Given the description of an element on the screen output the (x, y) to click on. 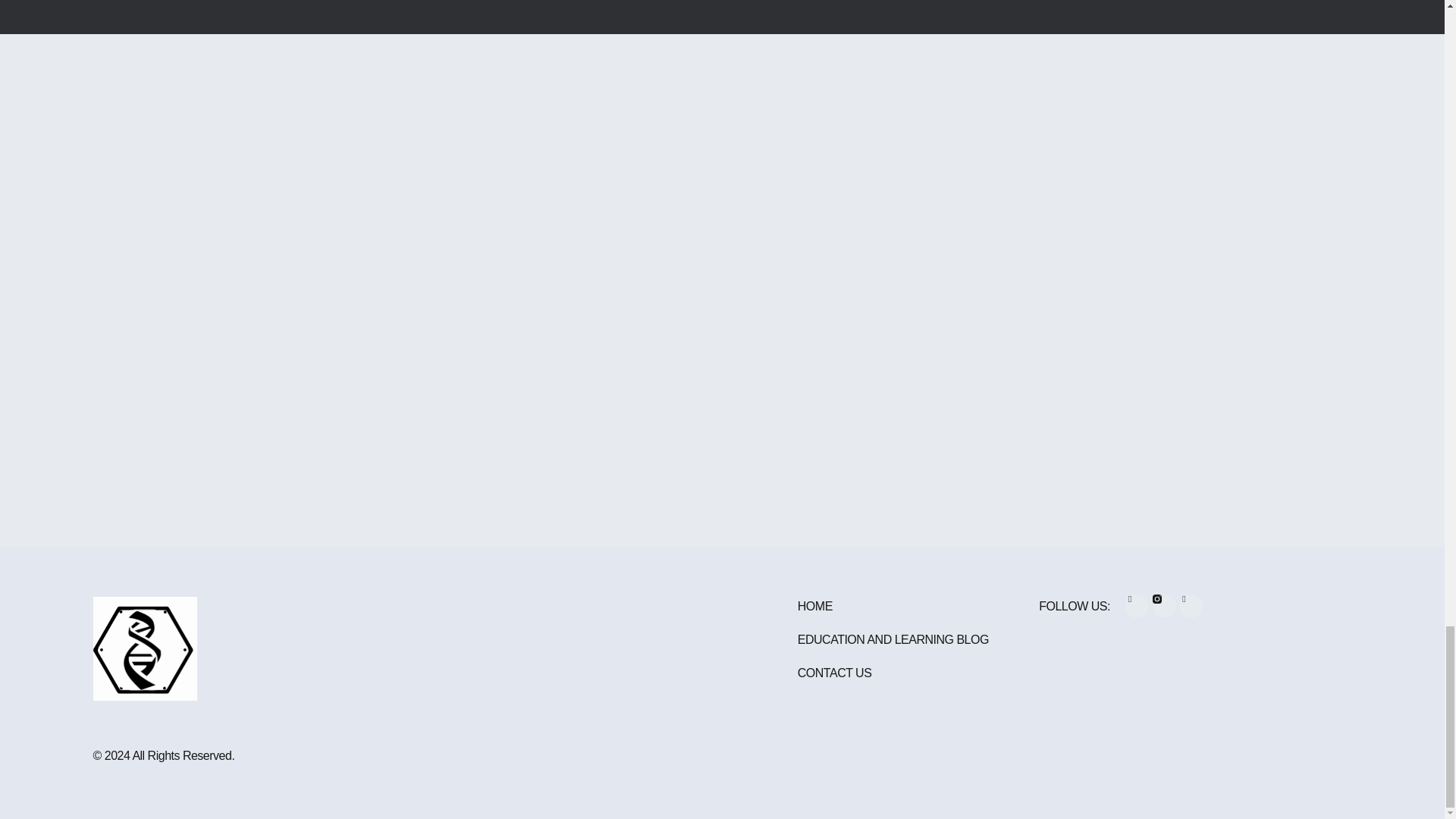
HOME (892, 606)
EDUCATION AND LEARNING BLOG (892, 639)
CONTACT US (892, 673)
